Given the description of an element on the screen output the (x, y) to click on. 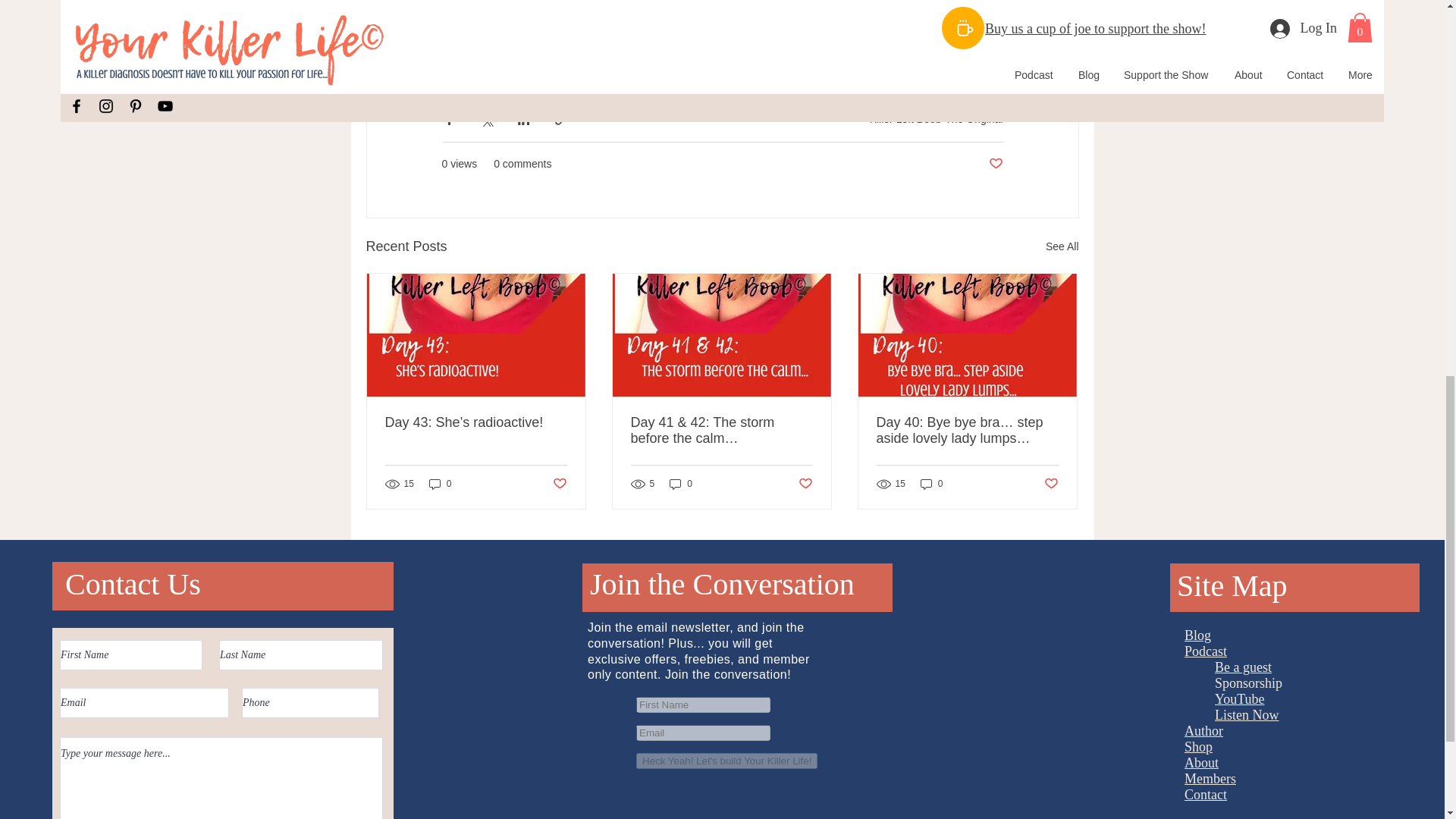
Embedded Content (747, 755)
